Given the description of an element on the screen output the (x, y) to click on. 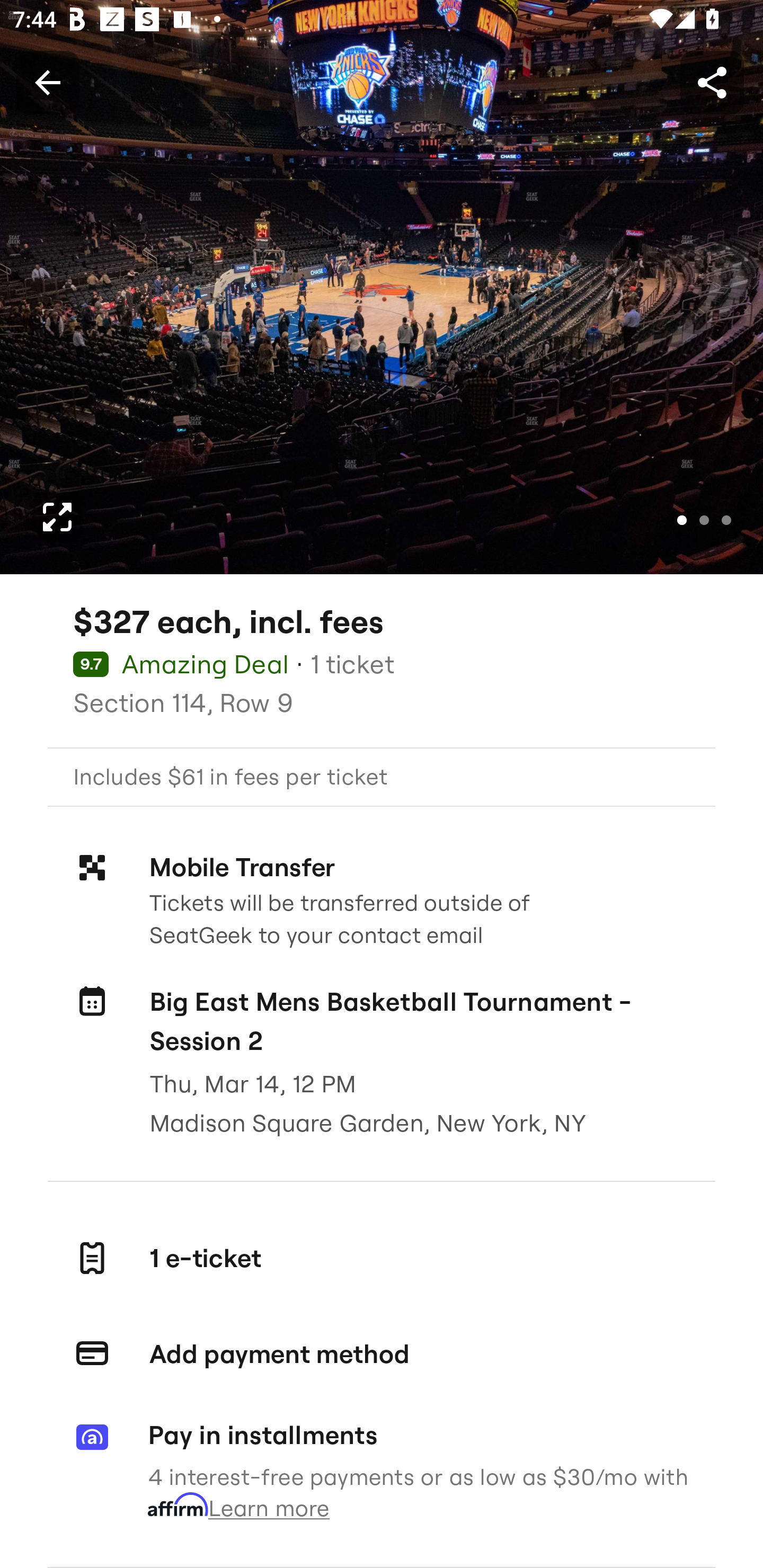
Back (47, 81)
Share (711, 81)
Expand image to fullscreen (57, 517)
1 e-ticket (381, 1258)
Add payment method (381, 1353)
